Given the description of an element on the screen output the (x, y) to click on. 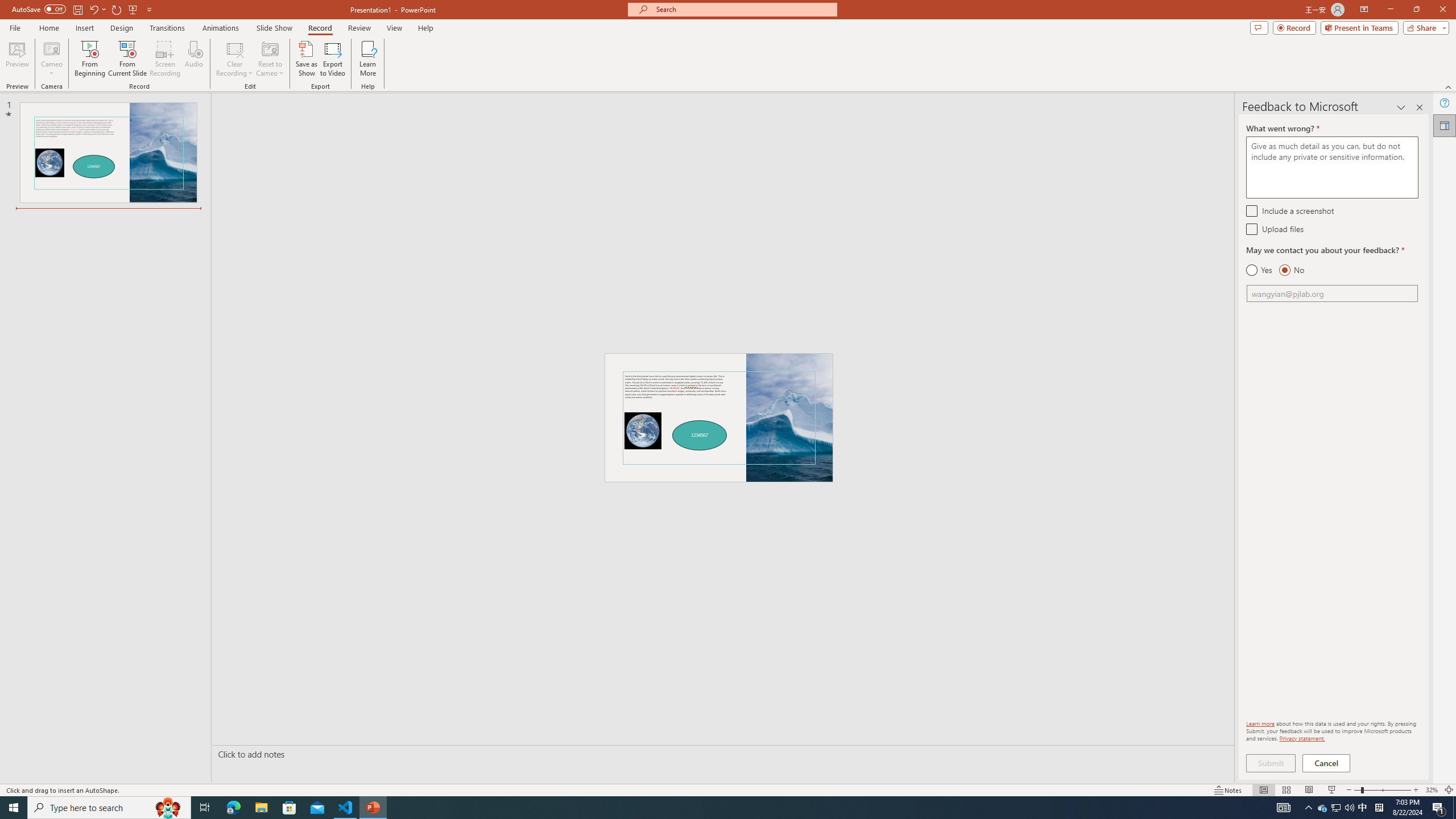
Clear Recording (234, 58)
Screen Recording (165, 58)
Slide Sorter (1286, 790)
Reset to Cameo (269, 58)
Reading View (1308, 790)
Share (1423, 27)
From Beginning (133, 9)
Cameo (51, 58)
Email (1332, 293)
Transitions (167, 28)
Undo (92, 9)
Help (1444, 102)
AutoSave (38, 9)
Learn more (1260, 723)
Present in Teams (1359, 27)
